Given the description of an element on the screen output the (x, y) to click on. 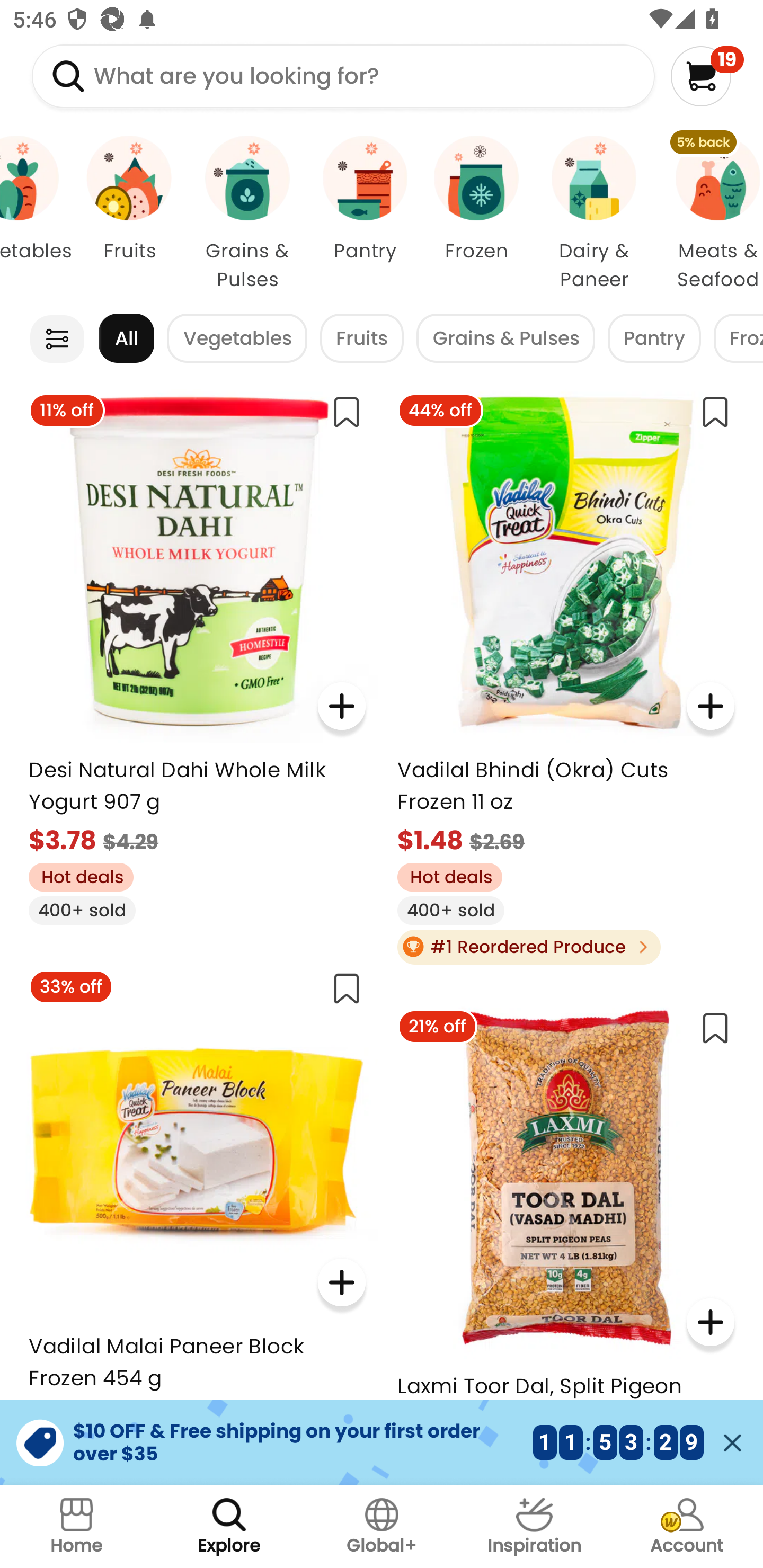
What are you looking for? (343, 75)
19 (706, 75)
Vegetables (37, 214)
Fruits (129, 214)
Grains & Pulses (247, 214)
Pantry (364, 214)
Frozen (475, 214)
Dairy & Paneer (593, 214)
5% back Meats & Seafood (709, 214)
All (126, 337)
Vegetables (237, 337)
Fruits (361, 337)
Grains & Pulses (505, 337)
Pantry (654, 337)
Home (76, 1526)
Explore (228, 1526)
Global+ (381, 1526)
Inspiration (533, 1526)
Account (686, 1526)
